Given the description of an element on the screen output the (x, y) to click on. 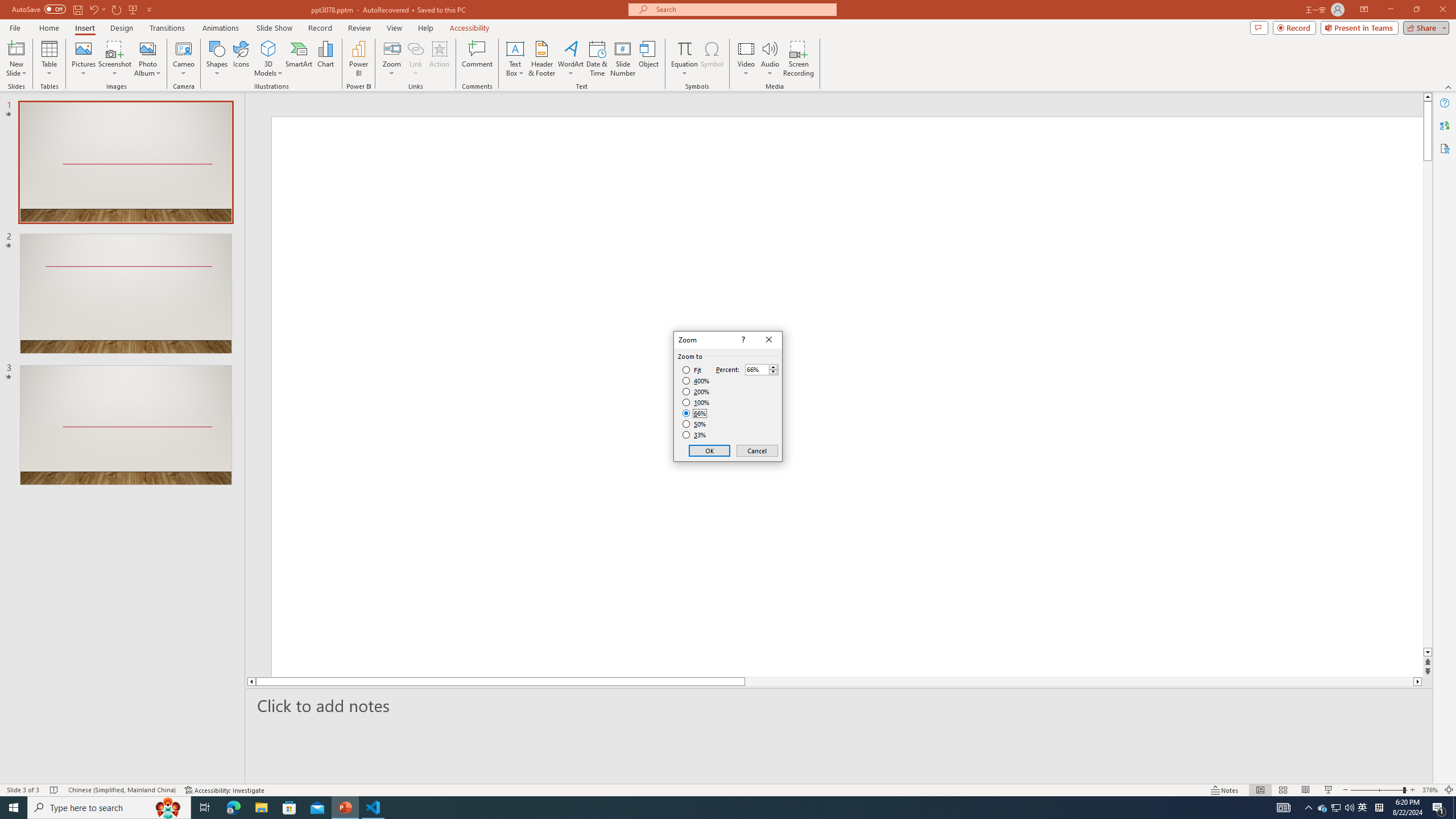
PowerPoint - 1 running window (345, 807)
Microsoft Store (289, 807)
Date & Time... (596, 58)
Percent (761, 369)
400% (696, 380)
Translator (1444, 125)
Microsoft Edge (233, 807)
New Photo Album... (147, 48)
